Given the description of an element on the screen output the (x, y) to click on. 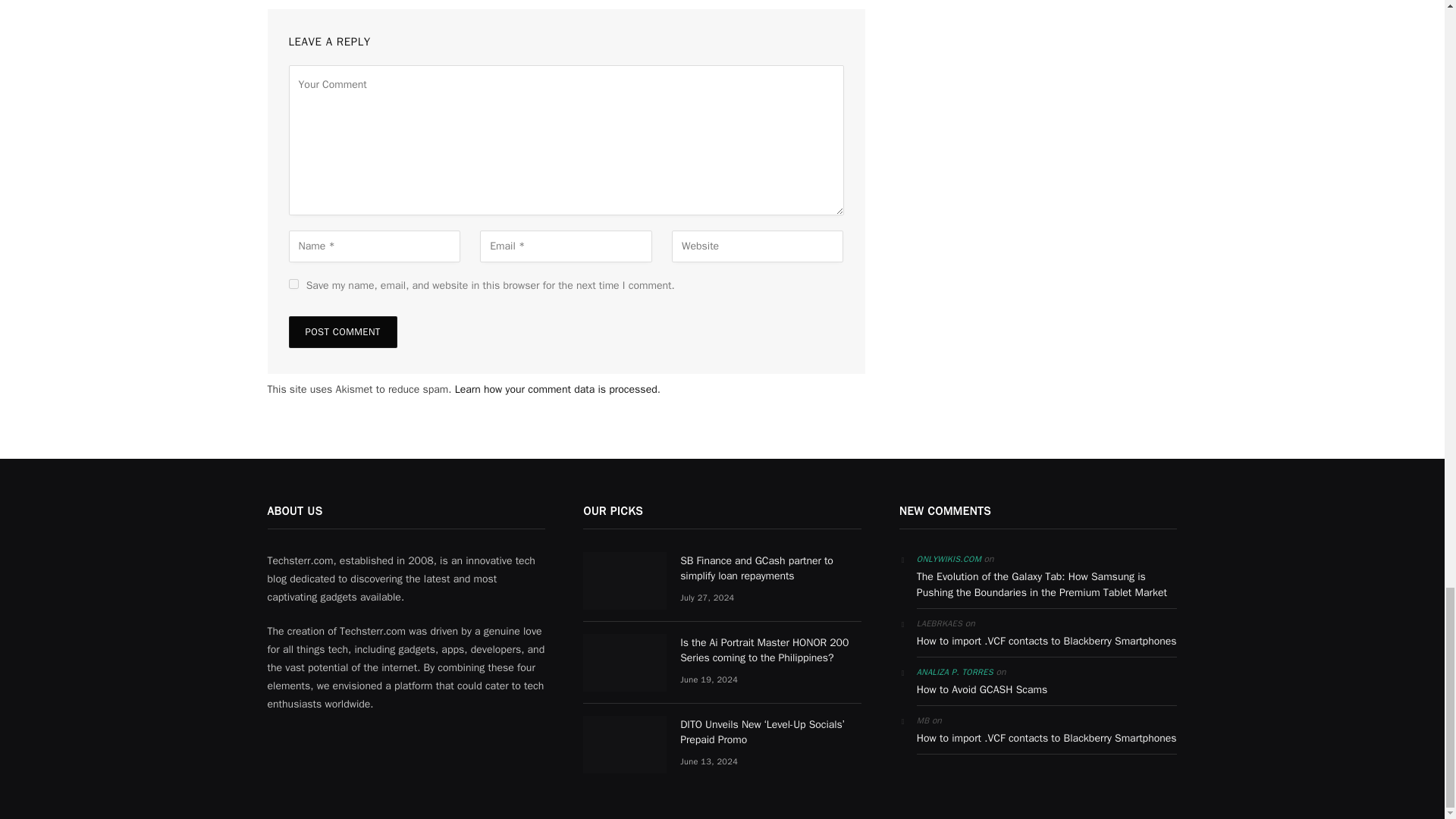
Post Comment (342, 332)
yes (293, 284)
